Given the description of an element on the screen output the (x, y) to click on. 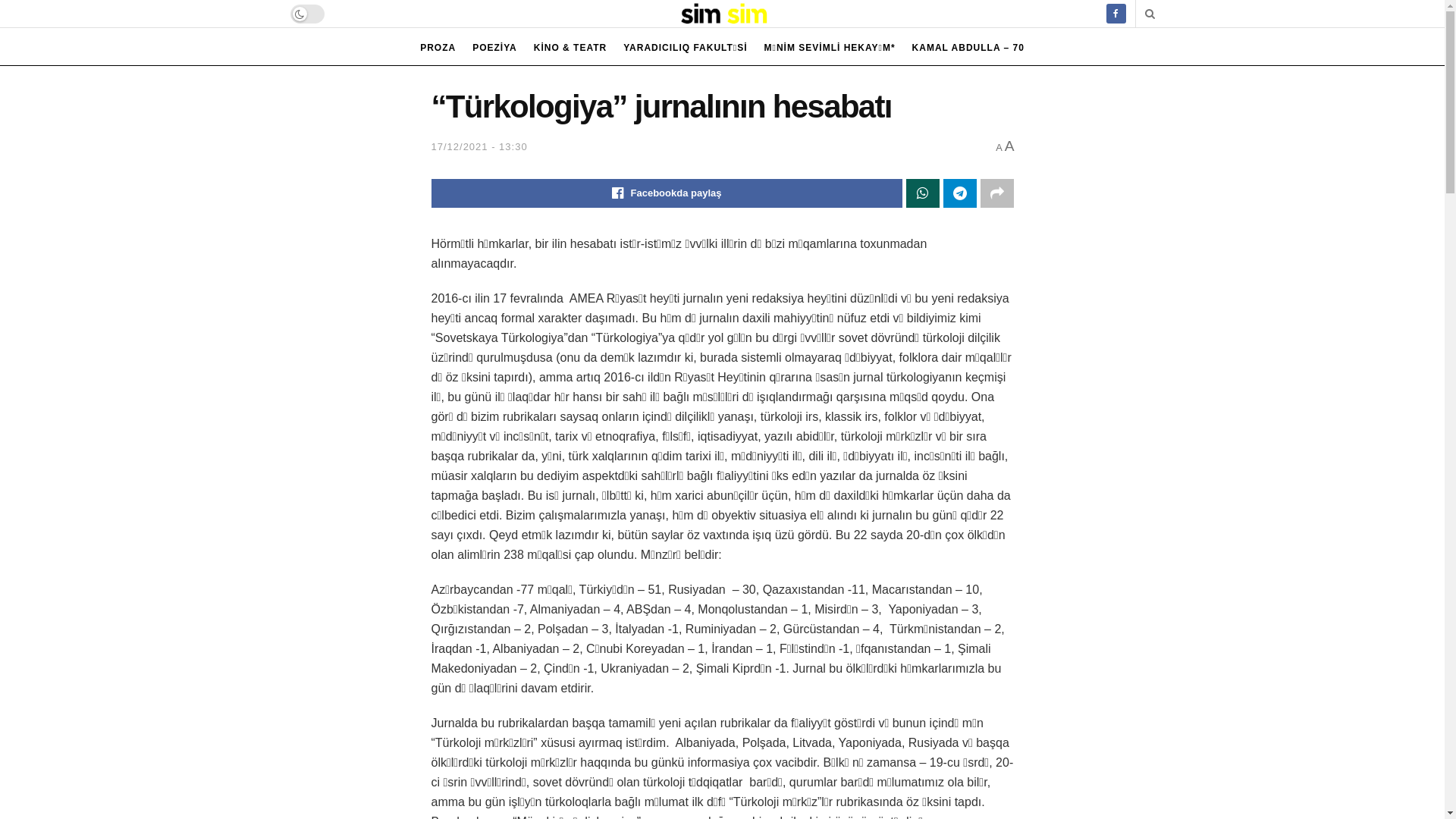
POEZIYA Element type: text (494, 47)
17/12/2021 - 13:30 Element type: text (478, 146)
KINO & TEATR Element type: text (569, 47)
PROZA Element type: text (437, 47)
